Given the description of an element on the screen output the (x, y) to click on. 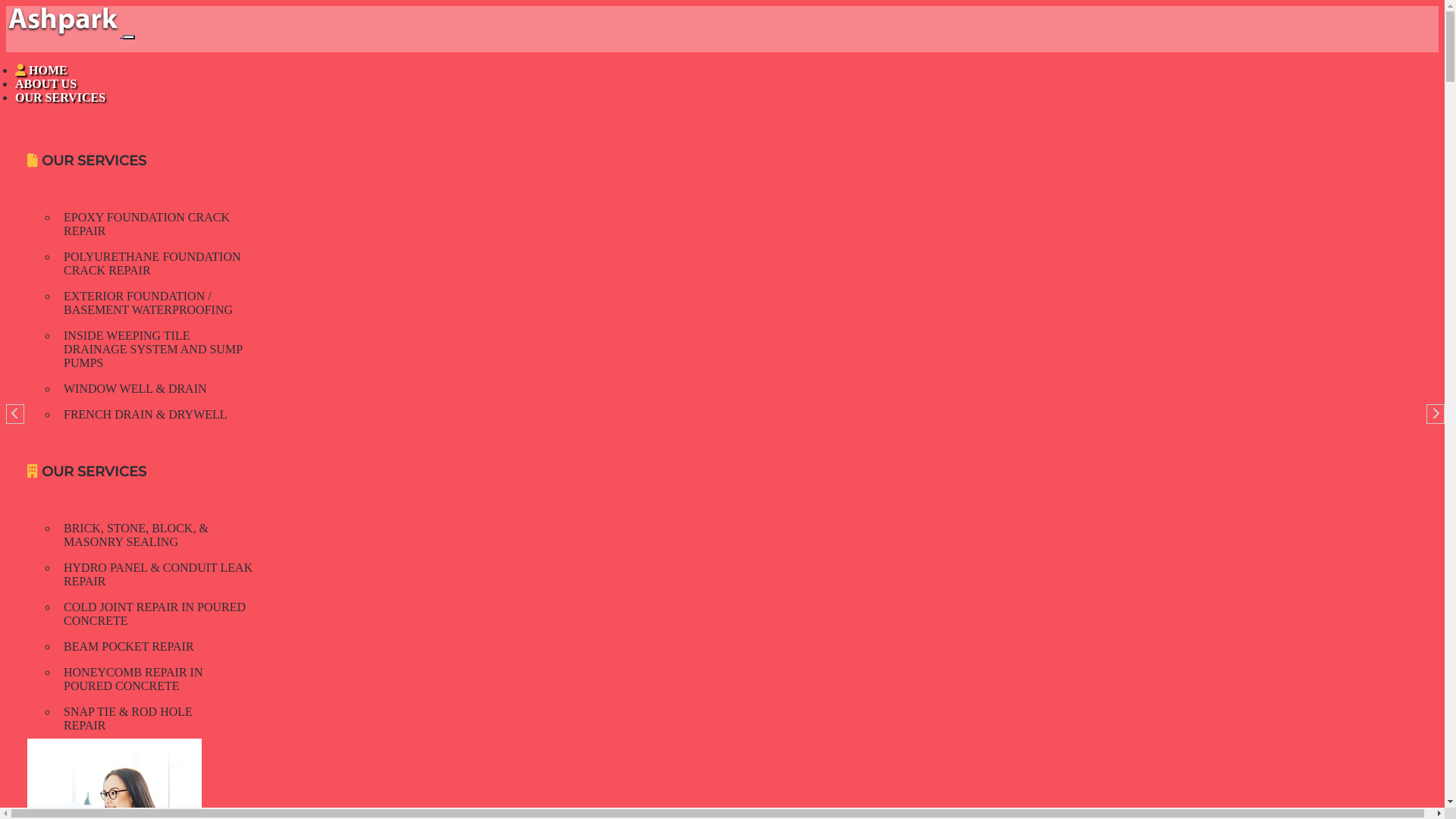
INSIDE WEEPING TILE DRAINAGE SYSTEM AND SUMP PUMPS Element type: text (152, 349)
HONEYCOMB REPAIR IN POURED CONCRETE Element type: text (132, 678)
COLD JOINT REPAIR IN POURED CONCRETE Element type: text (154, 613)
ABOUT US Element type: text (45, 83)
HOME Element type: text (41, 69)
EXTERIOR FOUNDATION / BASEMENT WATERPROOFING Element type: text (147, 302)
WINDOW WELL & DRAIN Element type: text (135, 388)
POLYURETHANE FOUNDATION CRACK REPAIR Element type: text (152, 263)
EPOXY FOUNDATION CRACK REPAIR Element type: text (146, 223)
OUR SERVICES Element type: text (60, 96)
BRICK, STONE, BLOCK, & MASONRY SEALING Element type: text (135, 534)
FRENCH DRAIN & DRYWELL Element type: text (145, 413)
SNAP TIE & ROD HOLE REPAIR Element type: text (127, 718)
BEAM POCKET REPAIR Element type: text (128, 645)
HYDRO PANEL & CONDUIT LEAK REPAIR Element type: text (157, 574)
